Given the description of an element on the screen output the (x, y) to click on. 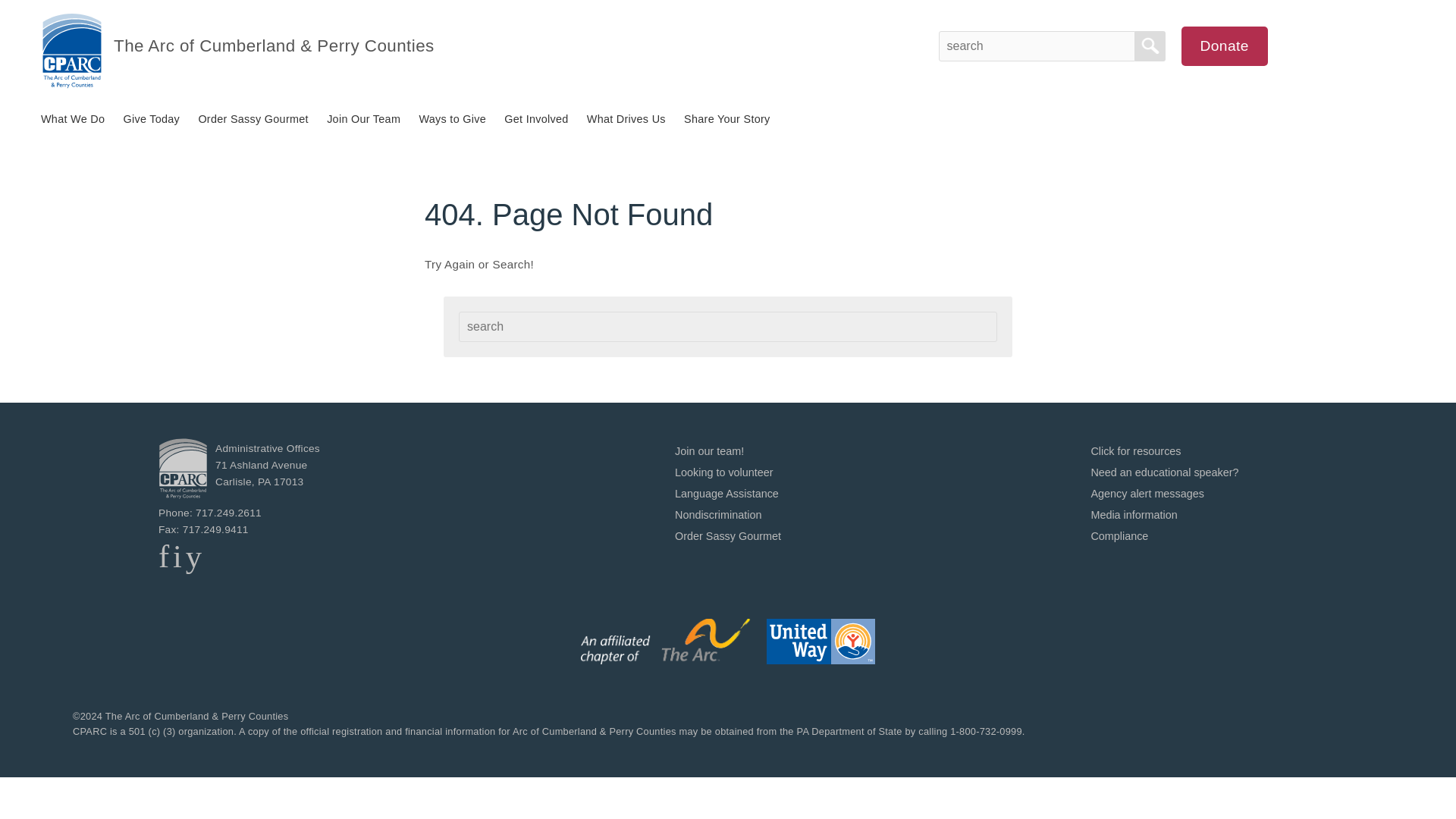
Order Sassy Gourmet (252, 119)
The ARC of Pennslyvania (665, 641)
Share Your Story (727, 119)
Ways to Give (452, 119)
Need an educational speaker? (1164, 472)
United Way (821, 641)
Order Sassy Gourmet (727, 535)
Click for resources (1135, 451)
Get Involved (535, 119)
What We Do (72, 119)
